Given the description of an element on the screen output the (x, y) to click on. 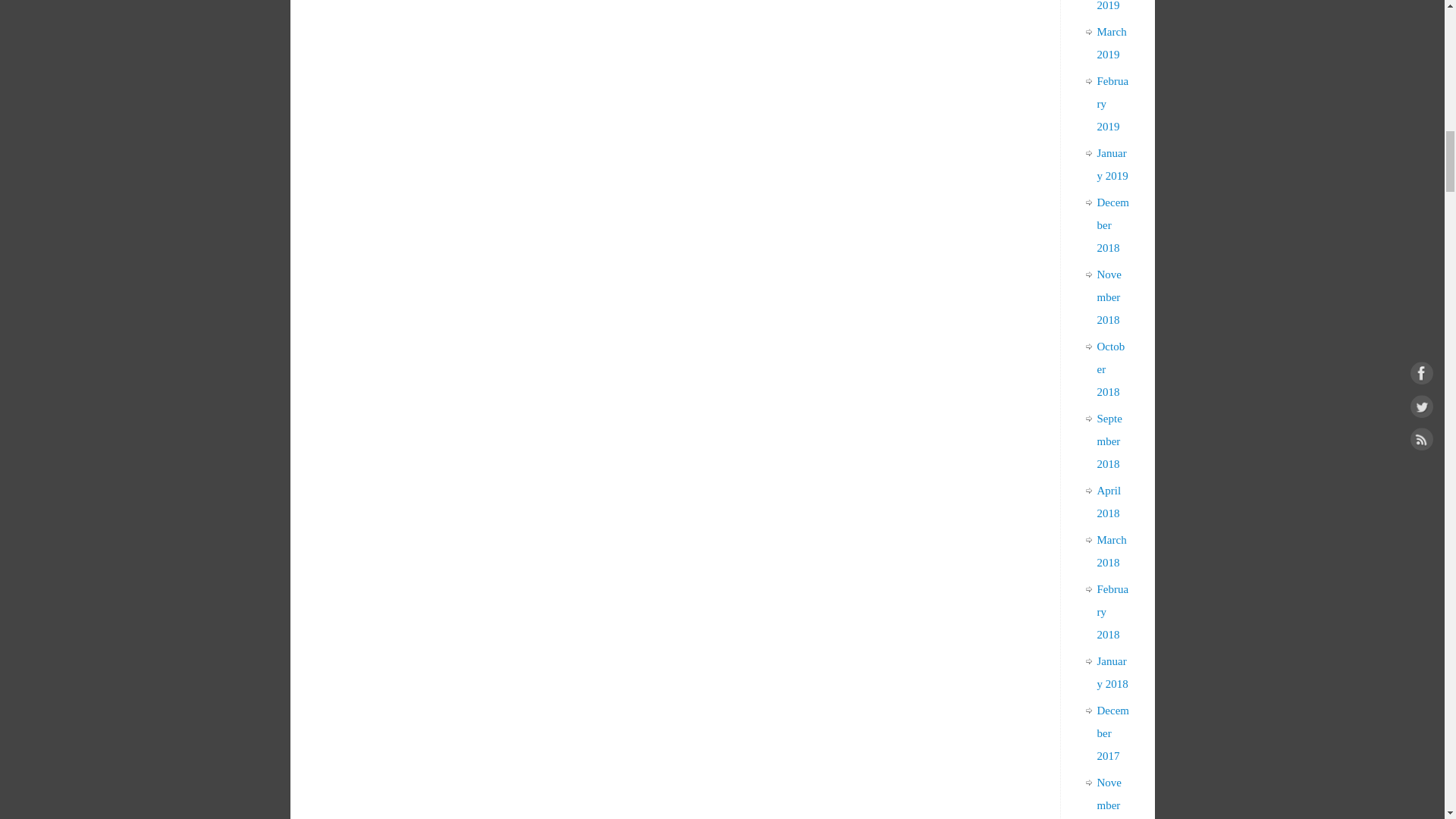
April 2019 (1108, 5)
